Given the description of an element on the screen output the (x, y) to click on. 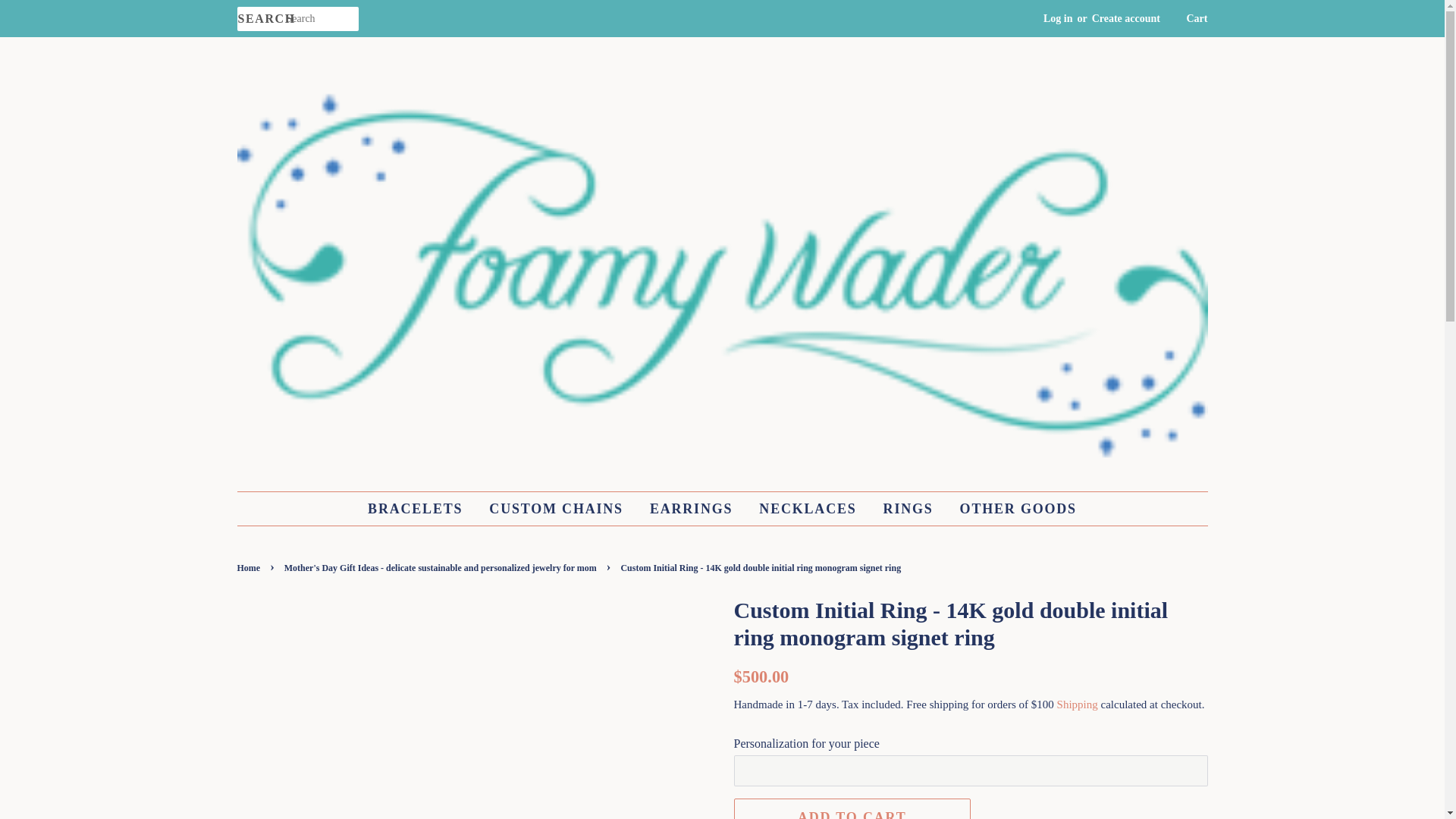
SEARCH (260, 18)
Create account (1126, 18)
Cart (1196, 18)
Log in (1058, 18)
Back to the frontpage (249, 567)
